Given the description of an element on the screen output the (x, y) to click on. 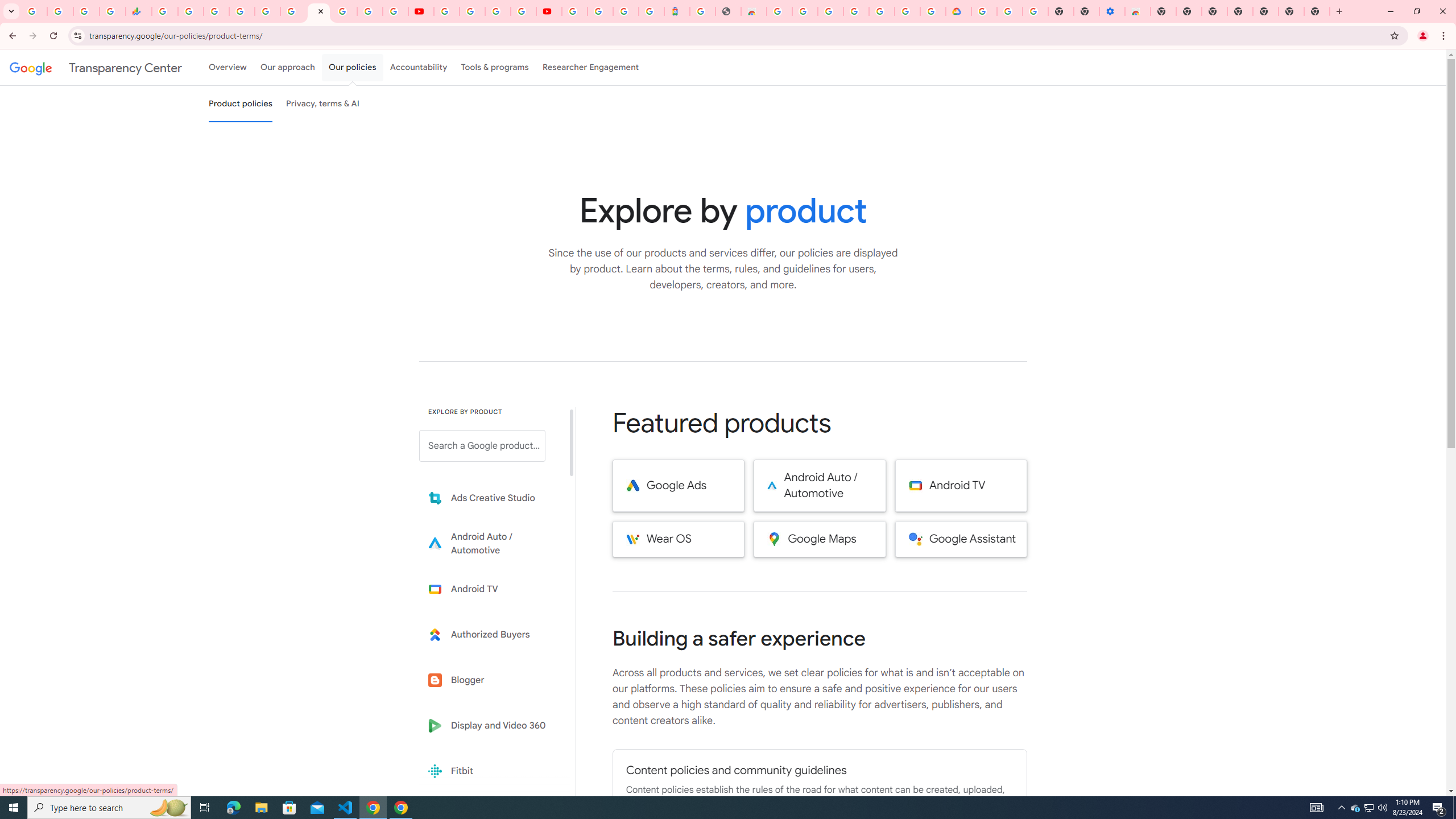
Google Account Help (472, 11)
Ad Settings (804, 11)
Tools & programs (494, 67)
Learn more about Android TV (490, 588)
Learn more about Authorized Buyers (490, 634)
Blogger (490, 679)
Sign in - Google Accounts (907, 11)
Google Maps (820, 538)
Google Ads (678, 485)
